Given the description of an element on the screen output the (x, y) to click on. 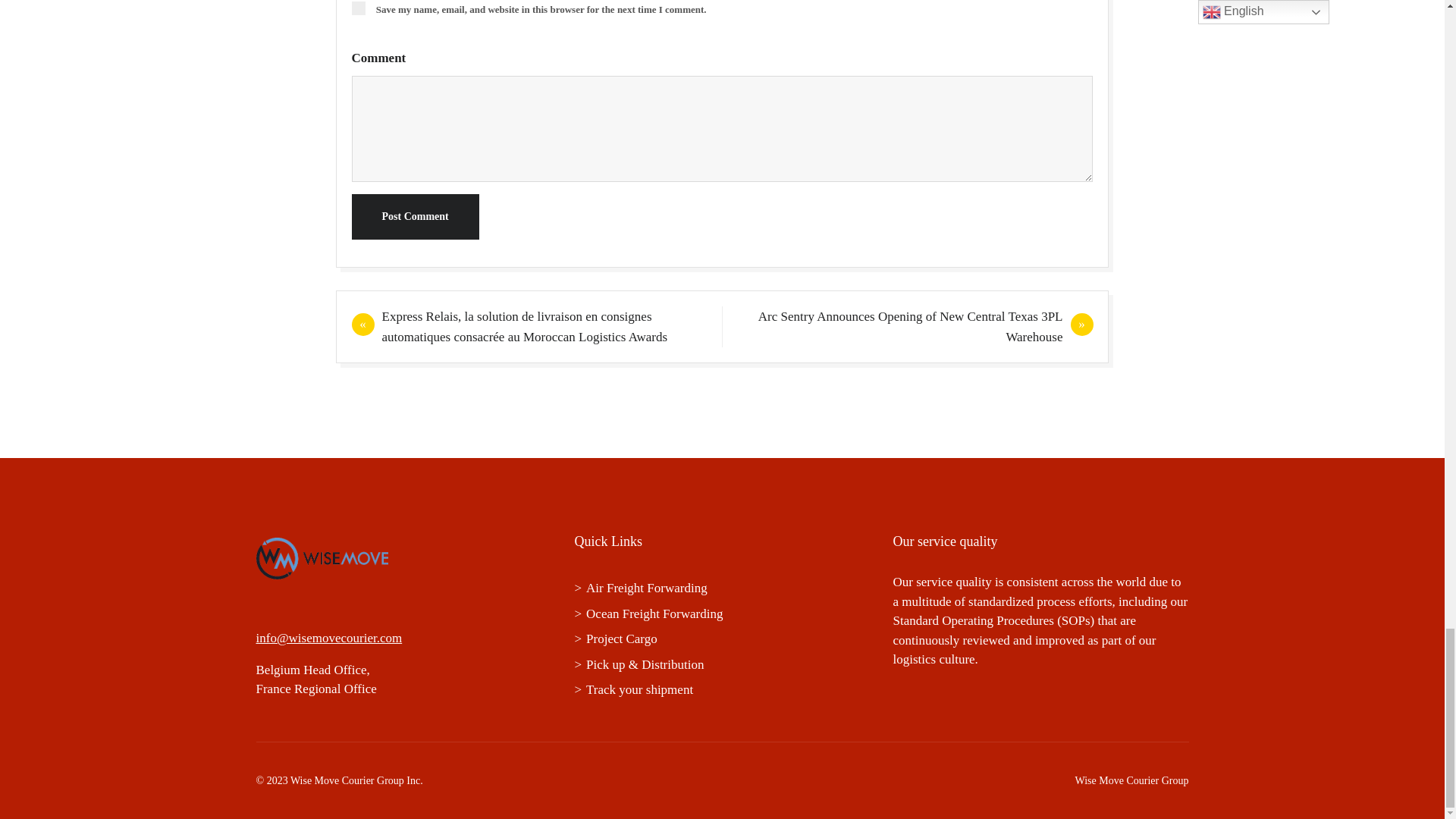
yes (358, 8)
